Given the description of an element on the screen output the (x, y) to click on. 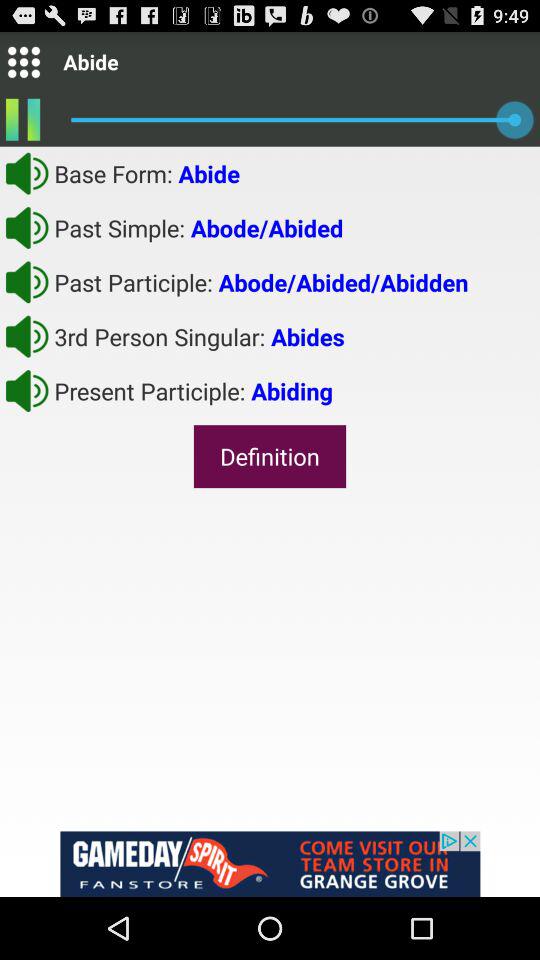
go to sound (27, 173)
